Given the description of an element on the screen output the (x, y) to click on. 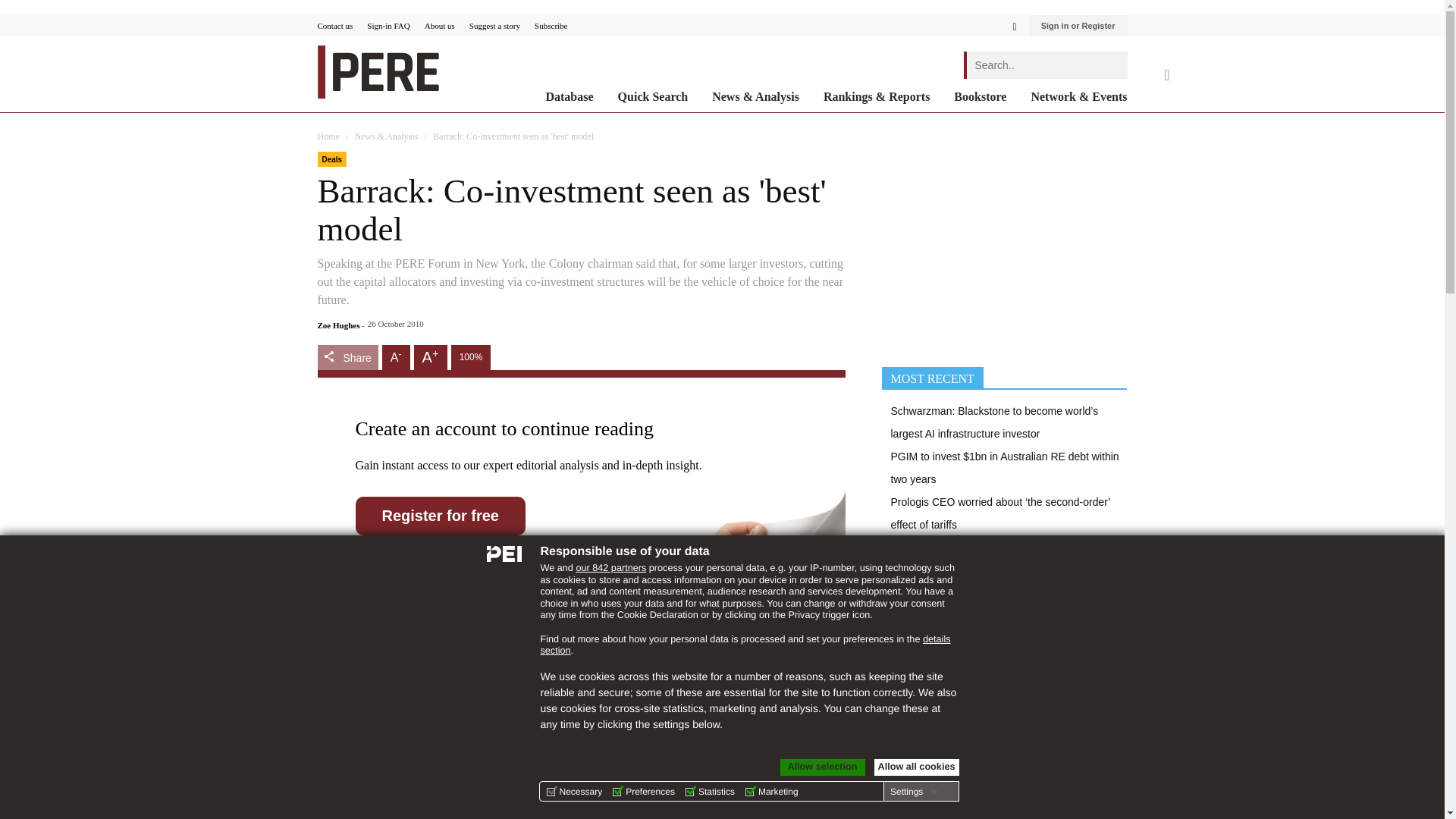
details section (745, 644)
our 842 partners (610, 567)
Allow all cookies (915, 767)
Allow selection (821, 767)
Settings (913, 791)
